Given the description of an element on the screen output the (x, y) to click on. 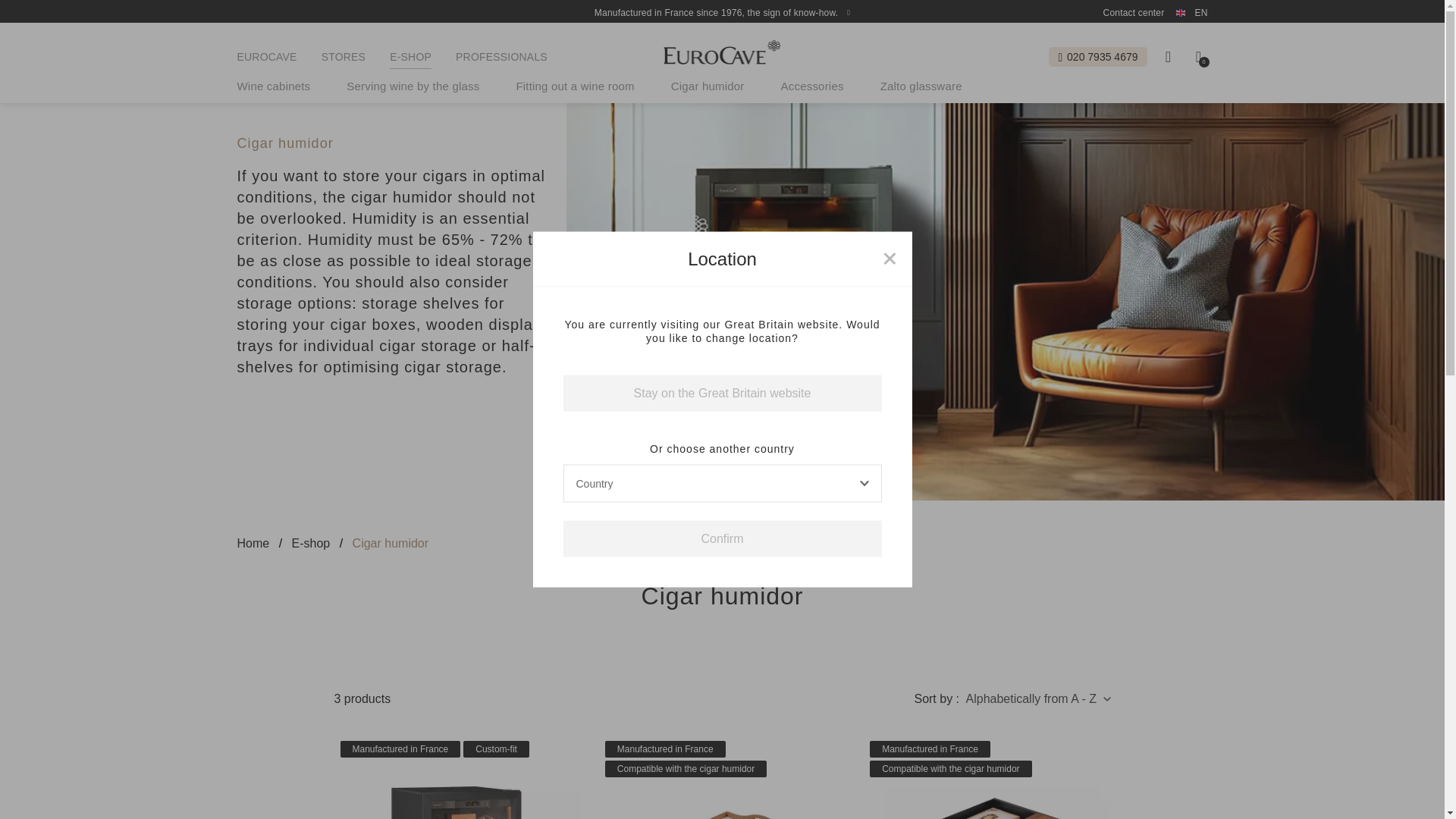
Zalto glassware (921, 86)
PROFESSIONALS (501, 56)
Serving wine by the glass (412, 86)
Manufactured in France since 1976, the sign of know-how. (722, 12)
Home (252, 543)
EN (1191, 12)
Fitting out a wine room (574, 86)
Cigar humidor (456, 776)
Sliding storage drawer for cigar humidor (986, 776)
E-SHOP (410, 56)
Wine cabinets (272, 86)
E-shop (311, 543)
Cigar humidor (707, 86)
Cigar tray shelf (721, 776)
Contact center (1133, 12)
